Given the description of an element on the screen output the (x, y) to click on. 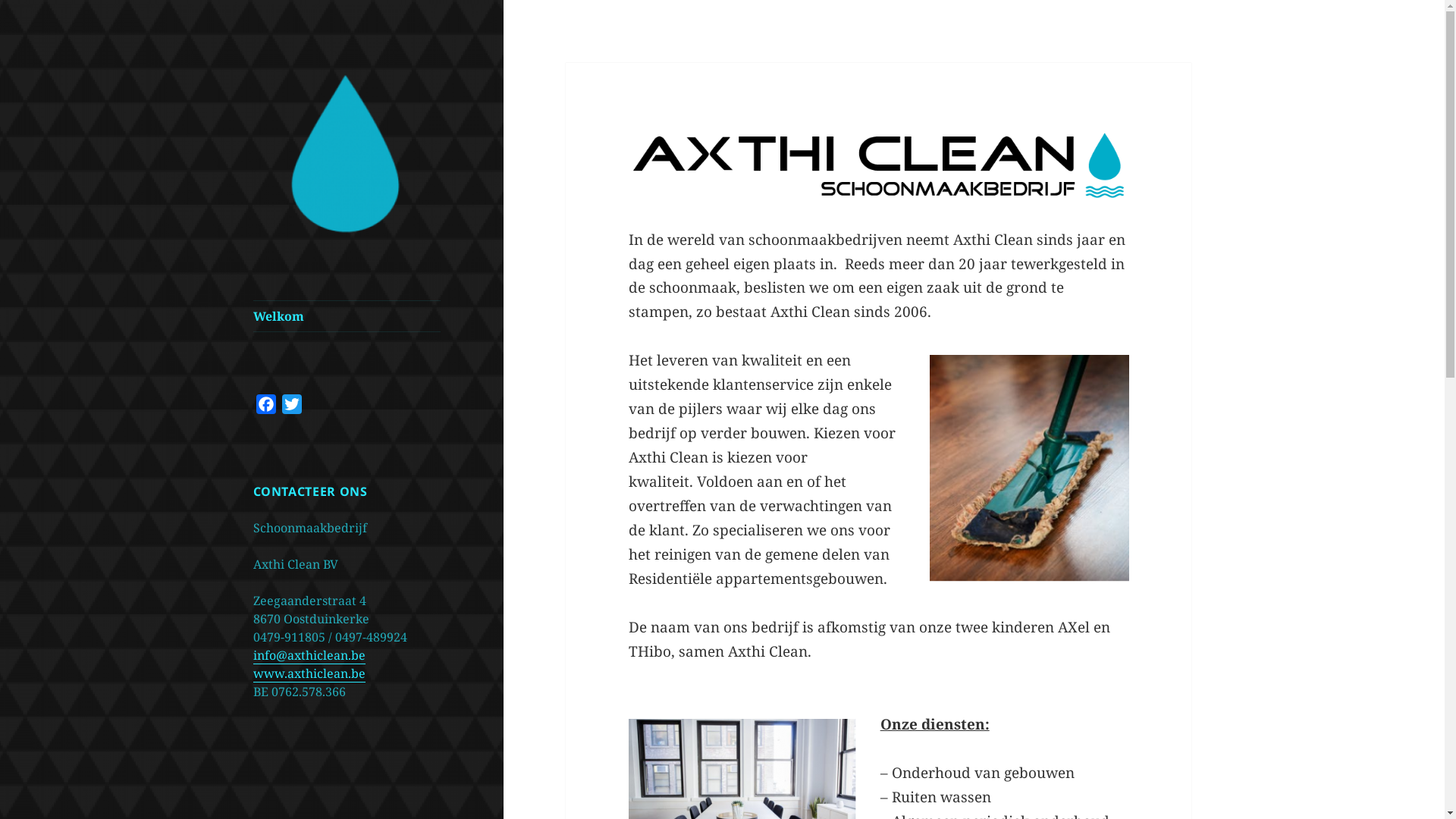
info@axthiclean.be Element type: text (309, 655)
Twitter Element type: text (291, 406)
Welkom Element type: text (347, 316)
www.axthiclean.be Element type: text (309, 673)
Axthiclean Element type: text (308, 261)
Facebook Element type: text (266, 406)
